Given the description of an element on the screen output the (x, y) to click on. 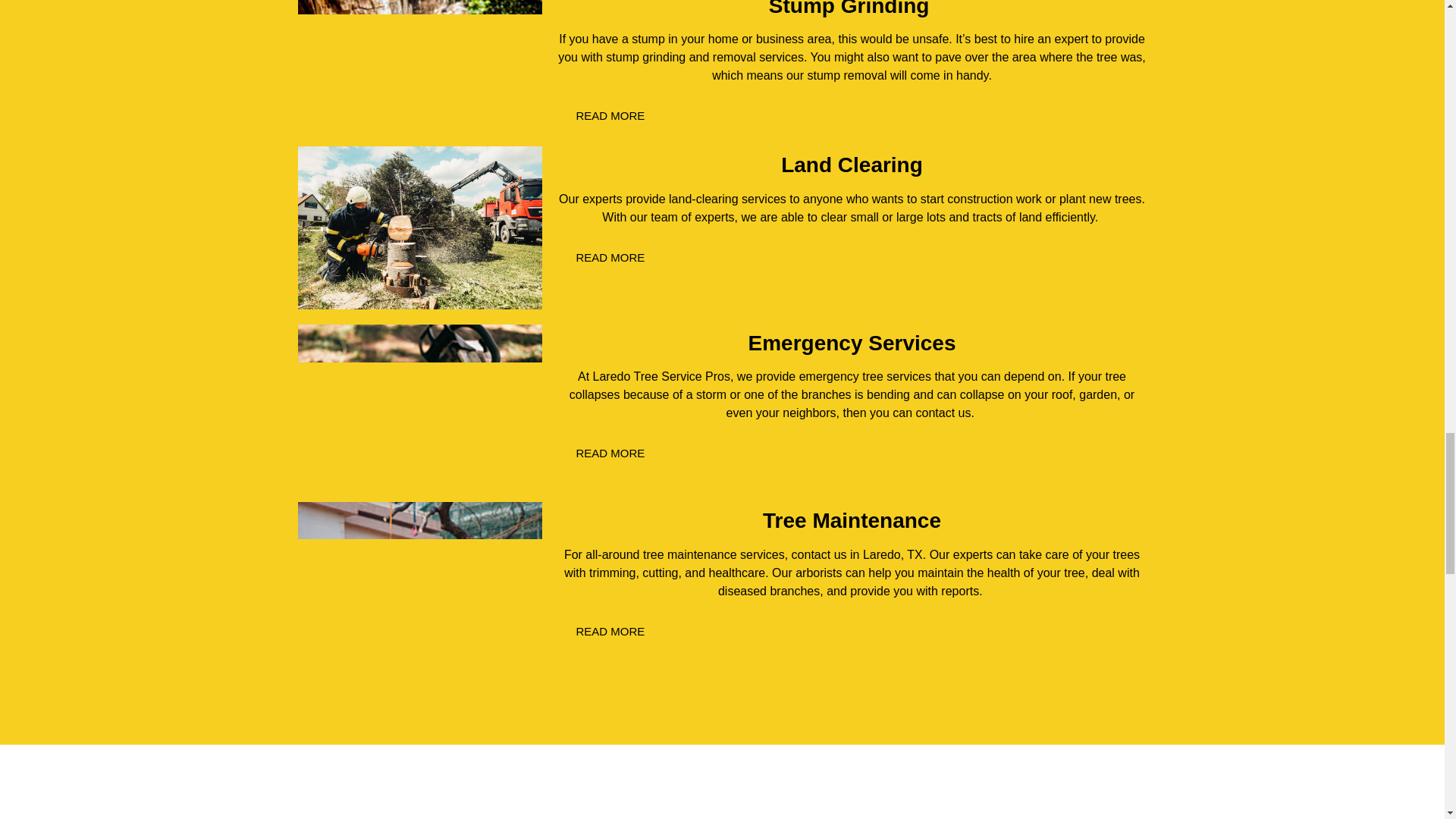
READ MORE (609, 631)
READ MORE (609, 452)
READ MORE (609, 115)
READ MORE (609, 256)
